Given the description of an element on the screen output the (x, y) to click on. 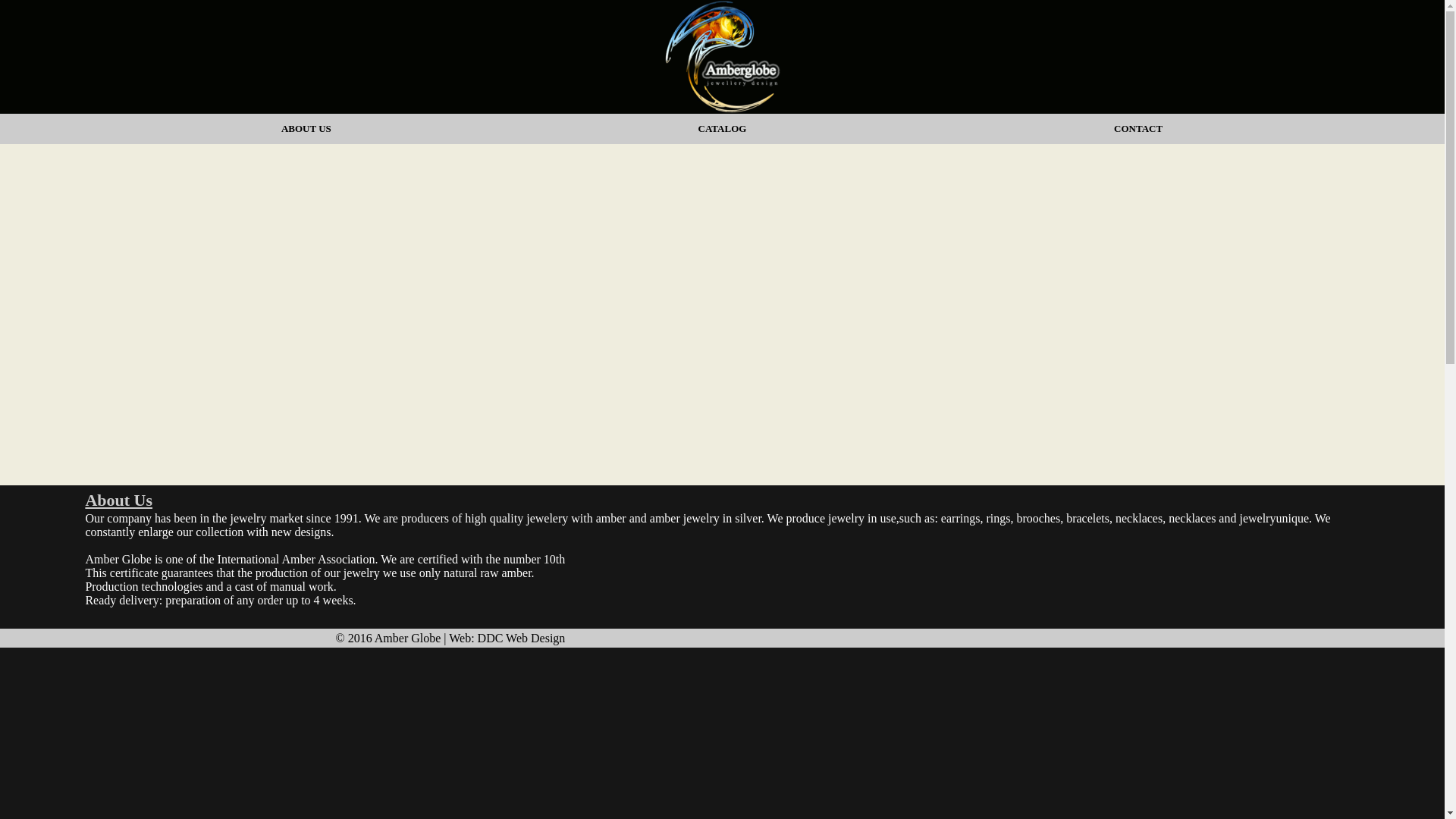
Amber Globe (407, 637)
ABOUT US (306, 128)
catalog (722, 128)
Contact (1138, 128)
CONTACT (1138, 128)
CATALOG (722, 128)
DDC Web Design (521, 637)
O Nas (306, 128)
